Given the description of an element on the screen output the (x, y) to click on. 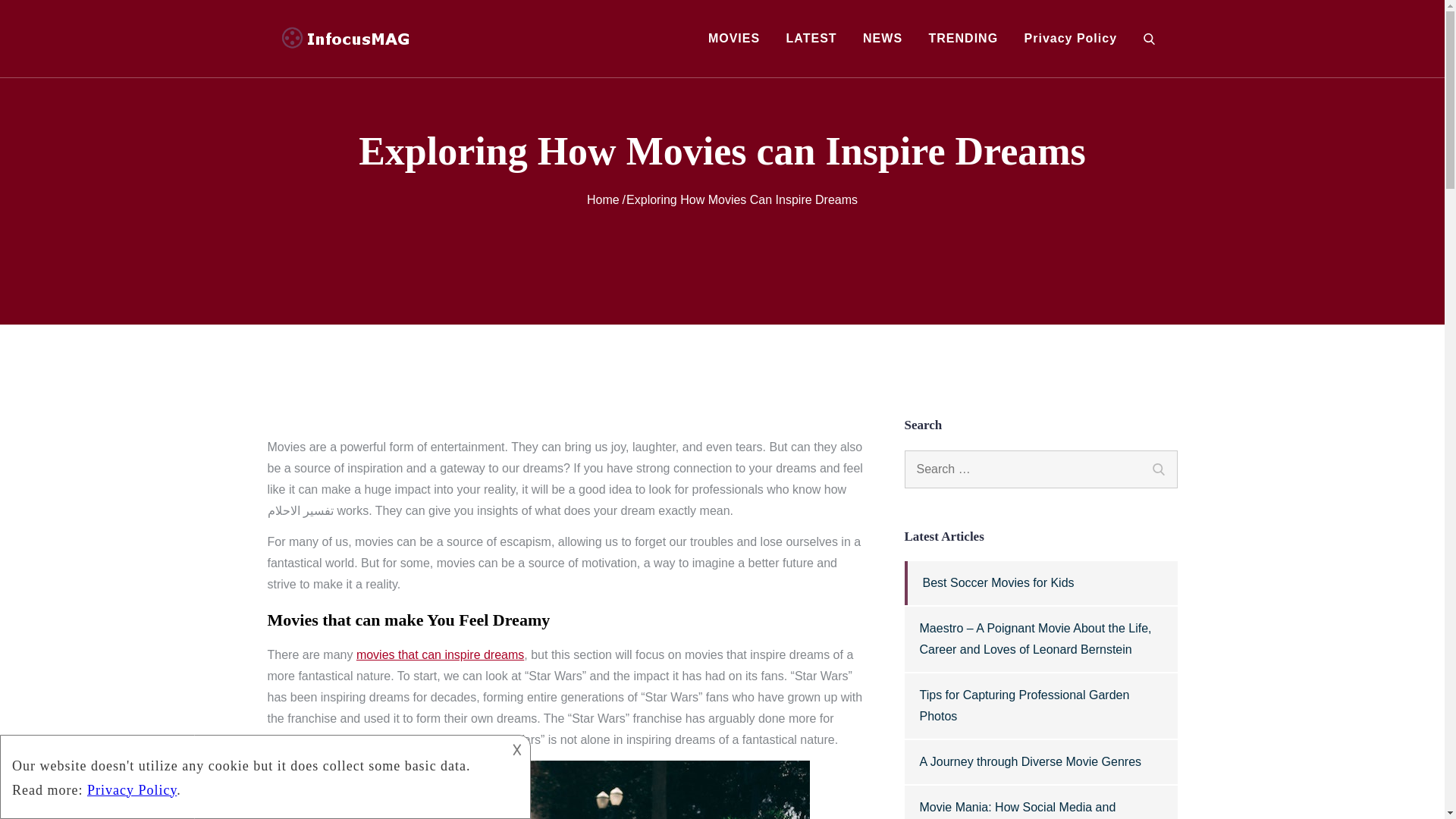
LATEST (811, 38)
Privacy Policy (1071, 38)
MOVIES (734, 38)
Tips for Capturing Professional Garden Photos (1023, 705)
A Journey through Diverse Movie Genres (1029, 761)
Home (603, 199)
TRENDING (963, 38)
InFocus Mag (493, 52)
Search (1157, 467)
movies that can inspire dreams (440, 654)
description (252, 773)
Best Soccer Movies for Kids (997, 582)
